Given the description of an element on the screen output the (x, y) to click on. 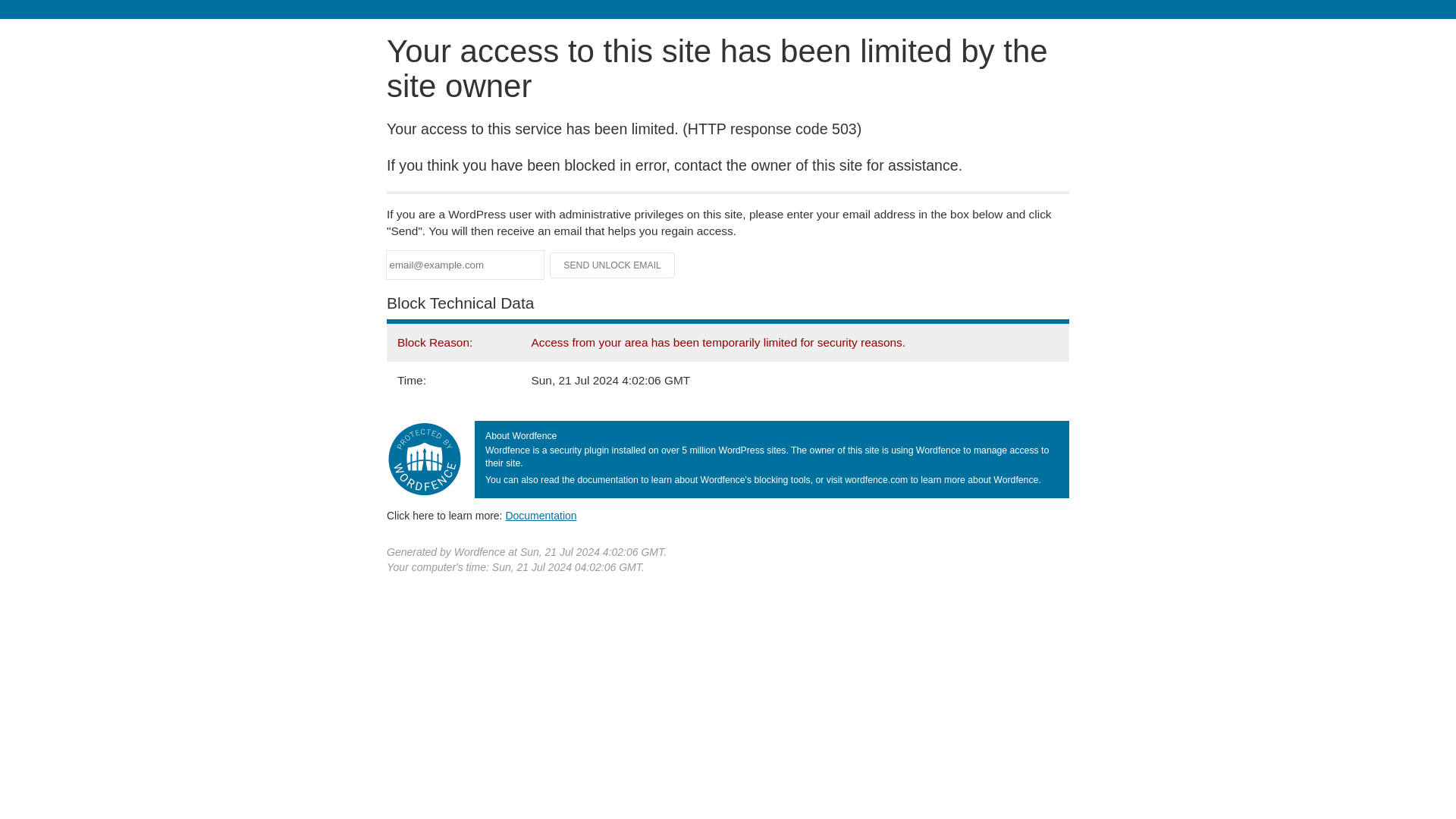
Send Unlock Email (612, 265)
Send Unlock Email (612, 265)
Documentation (540, 515)
